Given the description of an element on the screen output the (x, y) to click on. 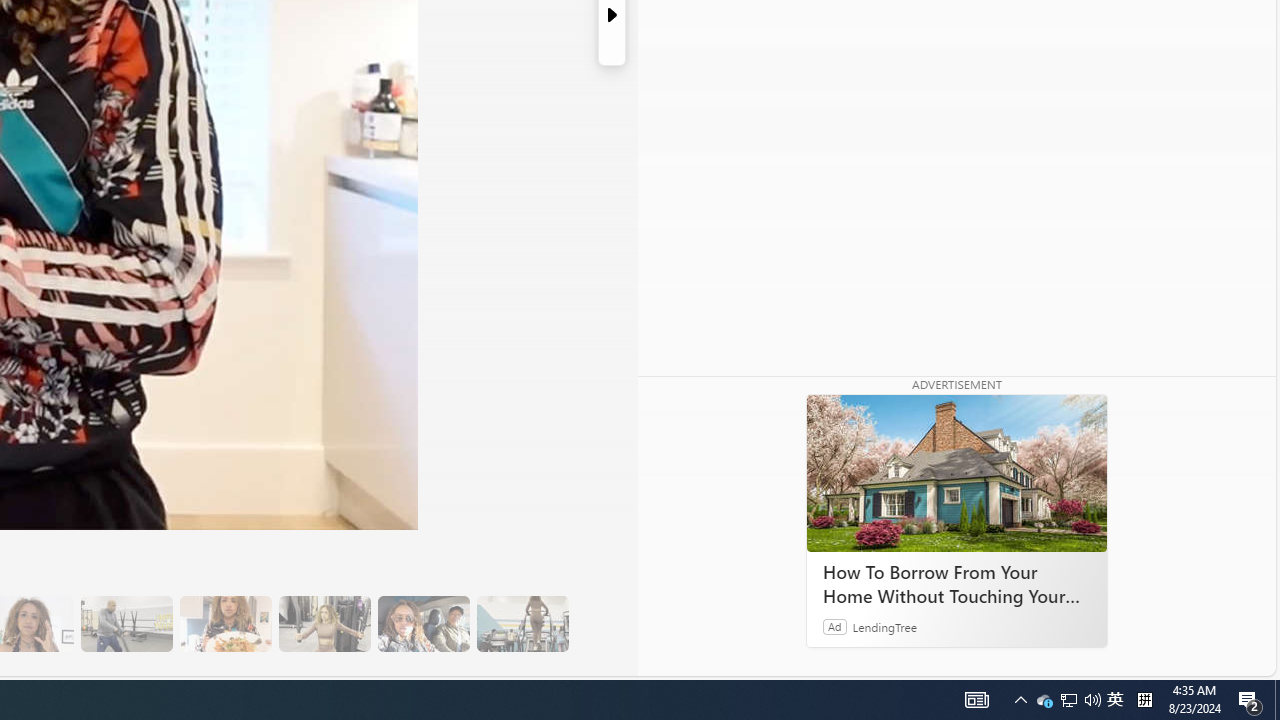
15 They Also Indulge in a Low-Calorie Sweet Treat (324, 624)
13 Her Husband Does Group Cardio Classs (125, 624)
14 They Have Salmon and Veggies for Dinner (225, 624)
How To Borrow From Your Home Without Touching Your Mortgage (956, 583)
How To Borrow From Your Home Without Touching Your Mortgage (956, 473)
15 They Also Indulge in a Low-Calorie Sweet Treat (324, 624)
13 Her Husband Does Group Cardio Classs (125, 624)
LendingTree (884, 626)
16 The Couple's Program Helps with Accountability (423, 624)
